Given the description of an element on the screen output the (x, y) to click on. 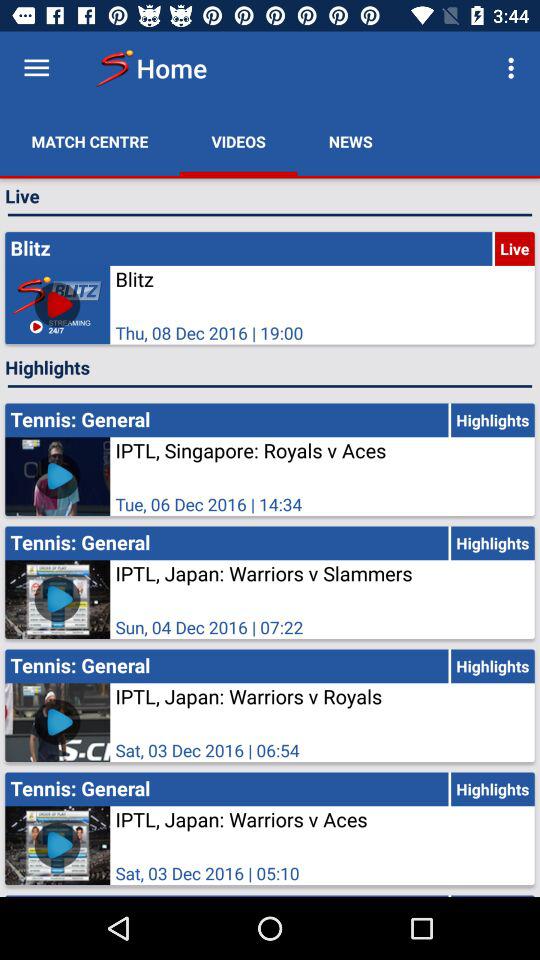
choose the match centre (90, 141)
